Given the description of an element on the screen output the (x, y) to click on. 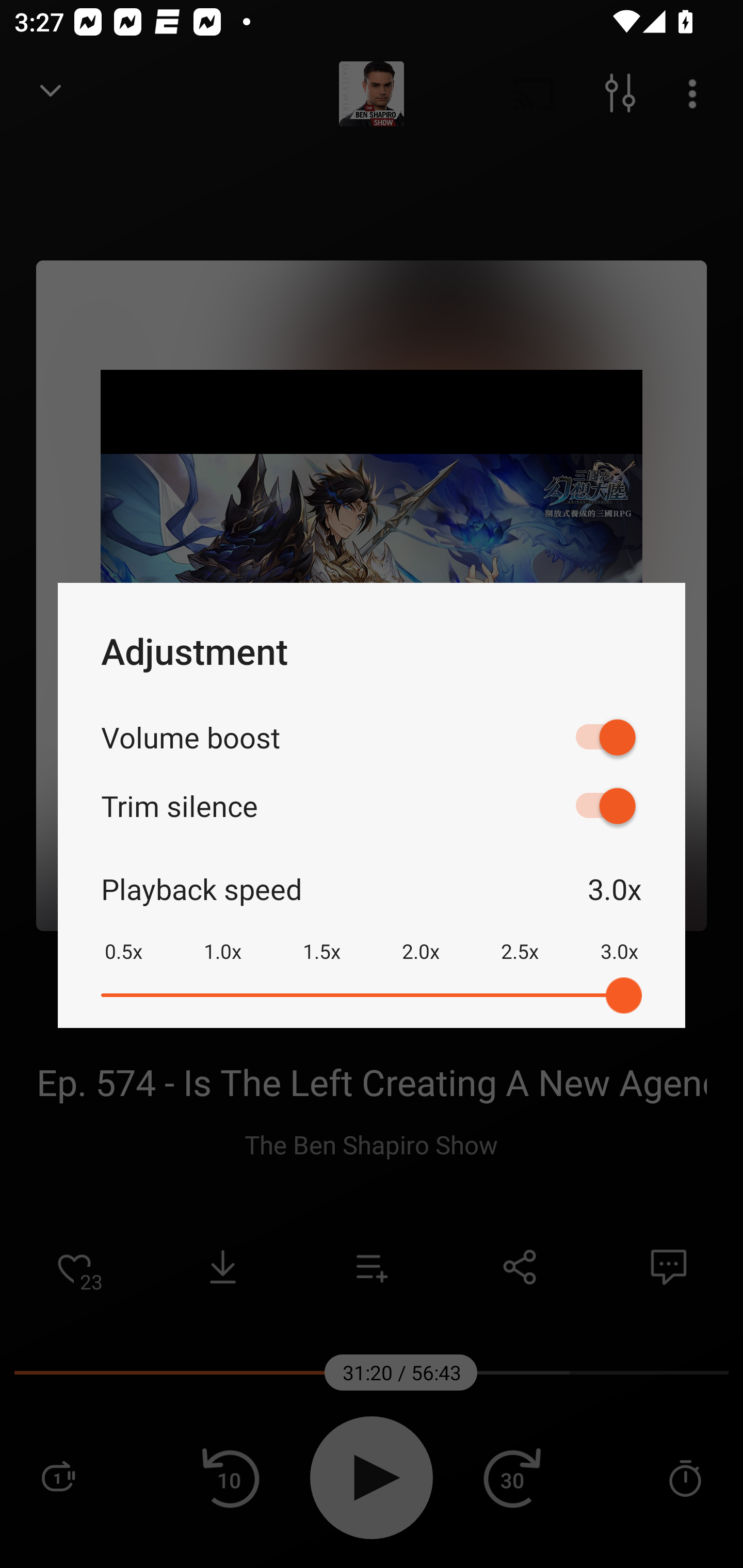
0.5x (123, 937)
1.0x (222, 937)
1.5x (321, 937)
2.0x (420, 937)
2.5x (519, 937)
3.0x (618, 937)
